Given the description of an element on the screen output the (x, y) to click on. 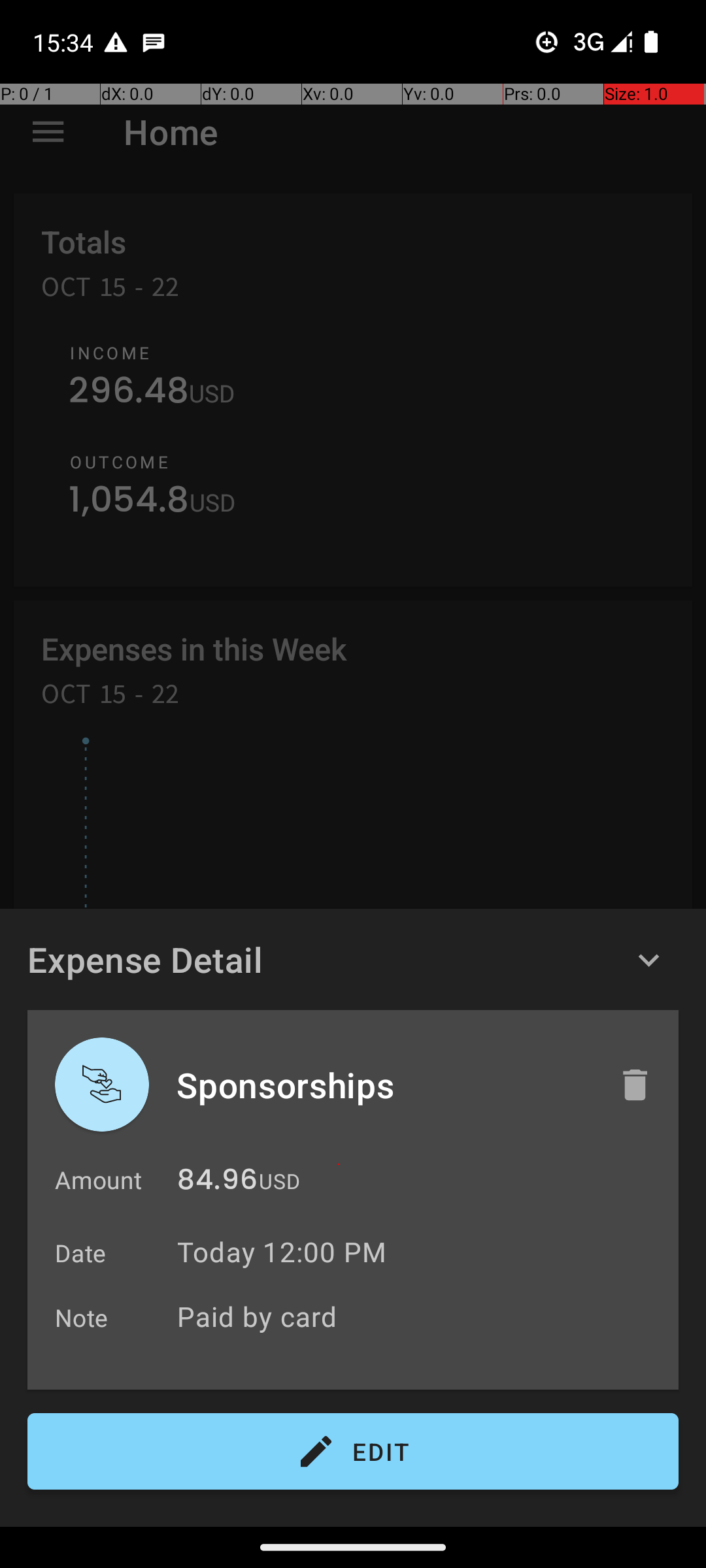
Sponsorships Element type: android.widget.TextView (383, 1084)
84.96 Element type: android.widget.TextView (217, 1182)
Today 12:00 PM Element type: android.widget.TextView (281, 1251)
Paid by card Element type: android.widget.TextView (420, 1315)
